Given the description of an element on the screen output the (x, y) to click on. 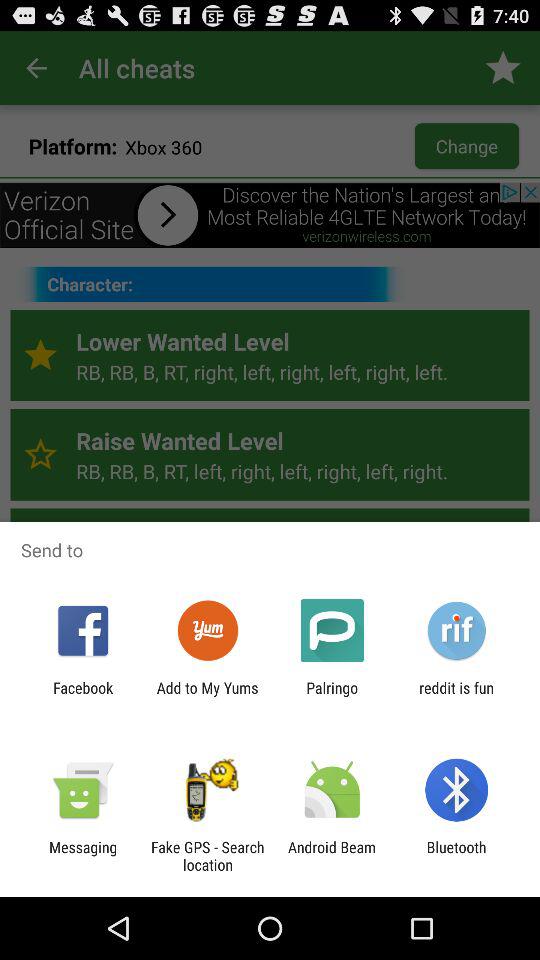
launch the item to the left of the bluetooth app (332, 856)
